Given the description of an element on the screen output the (x, y) to click on. 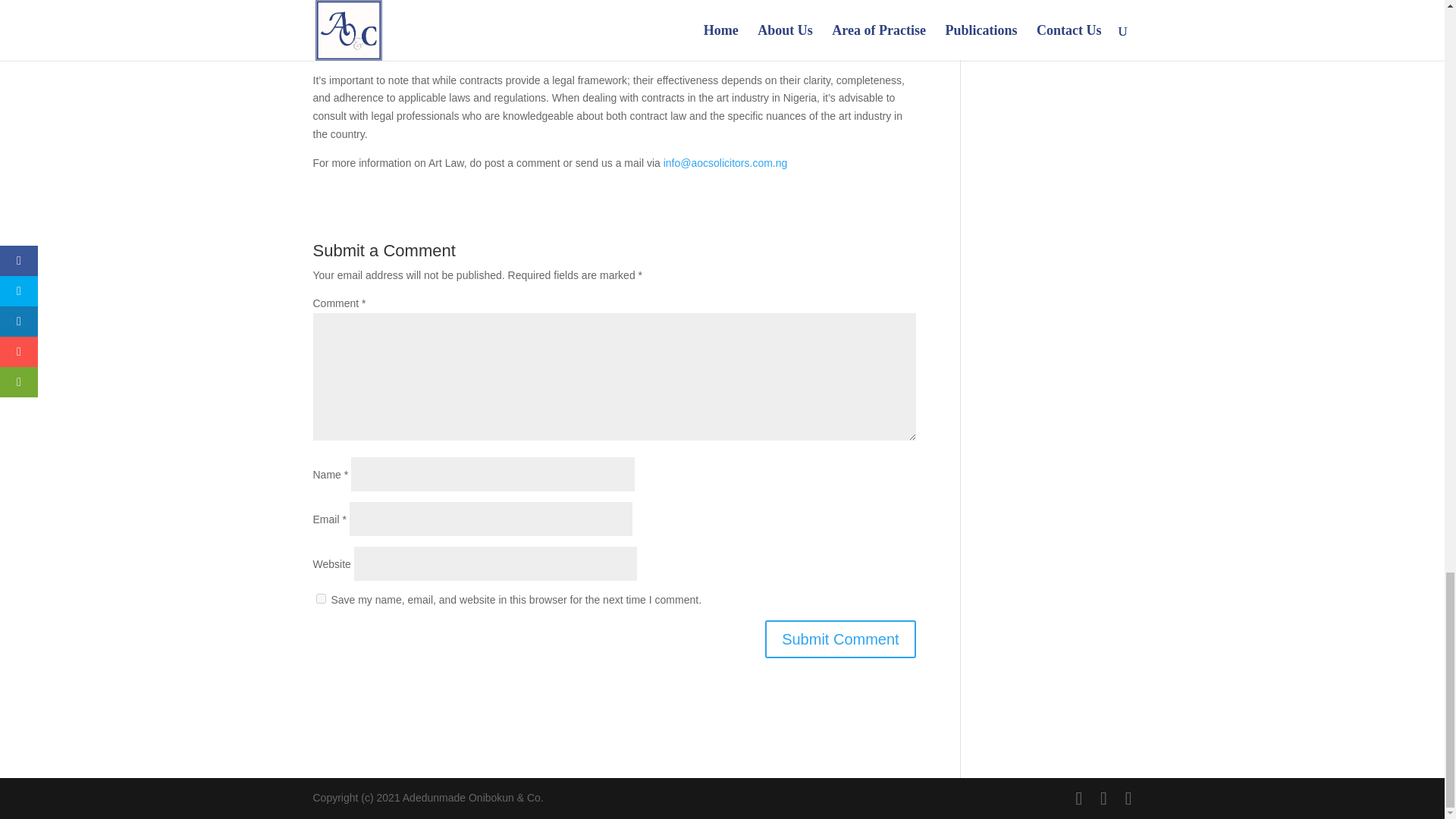
yes (319, 598)
Submit Comment (840, 638)
Submit Comment (840, 638)
